Given the description of an element on the screen output the (x, y) to click on. 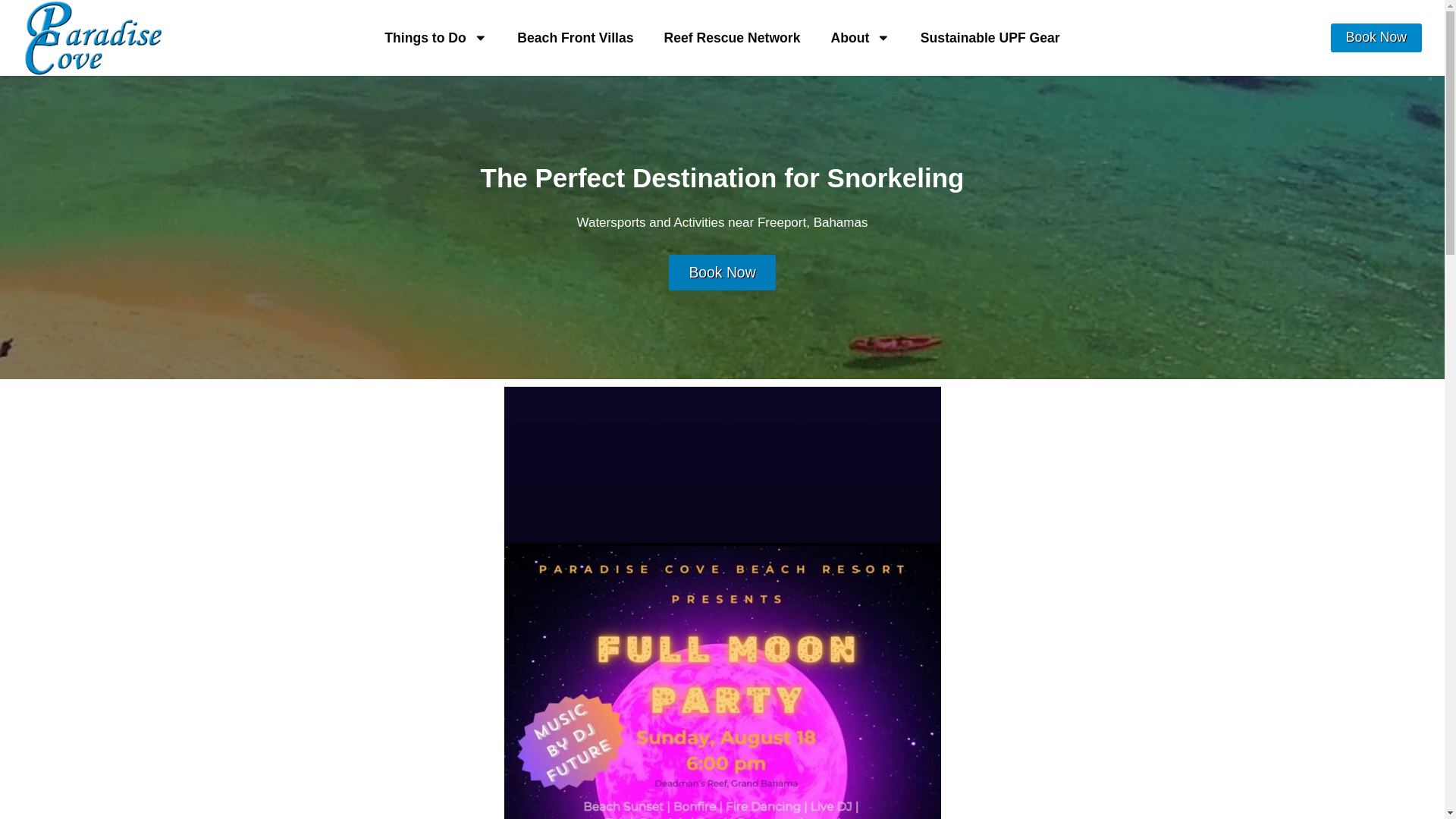
Shop Sustainable UPF Gear (990, 37)
Beach Front Villas (574, 37)
About (859, 37)
Sustainable UPF Gear (990, 37)
Things to Do (435, 37)
Reef Rescue Network (732, 37)
